Given the description of an element on the screen output the (x, y) to click on. 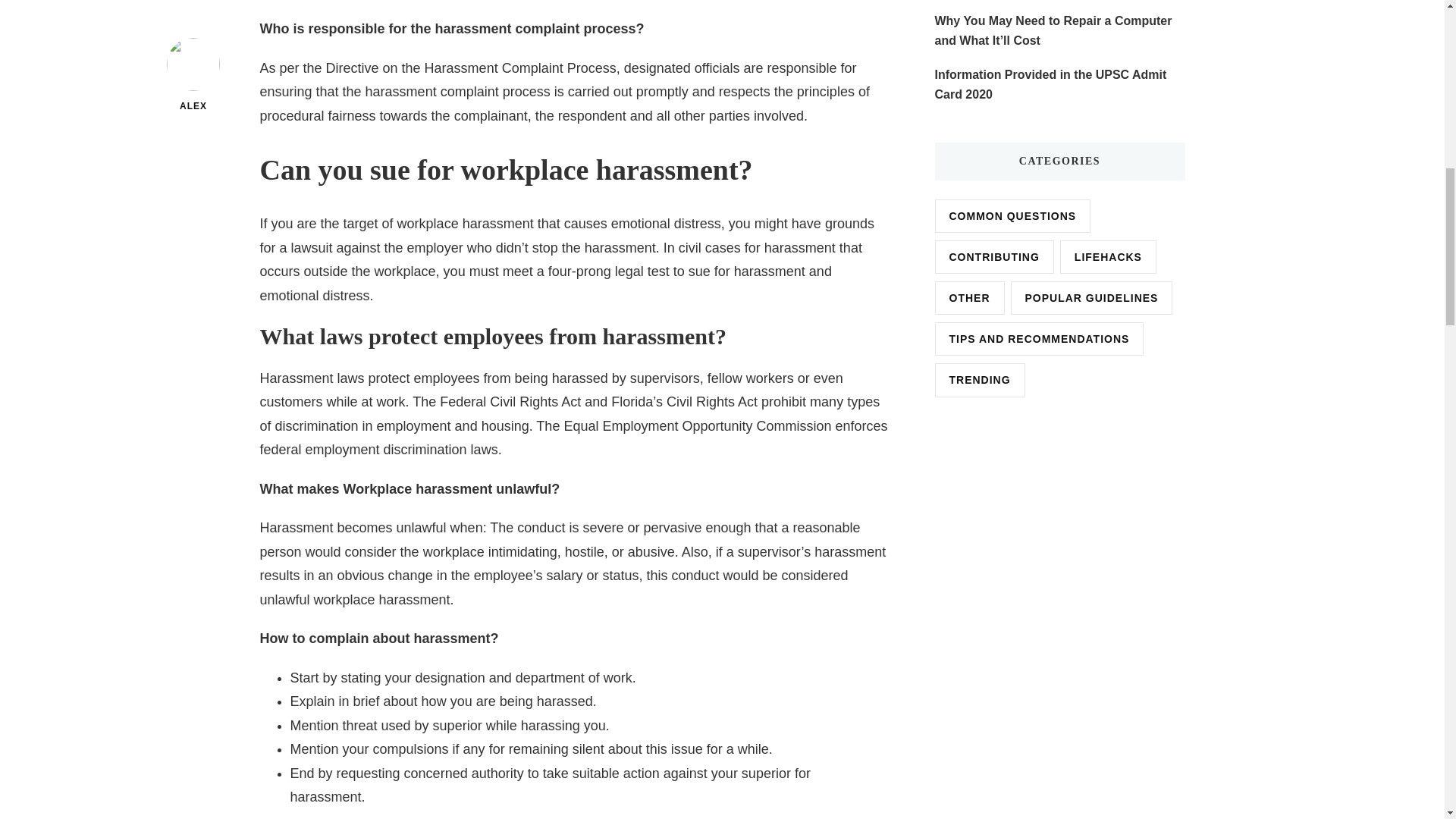
Information Provided in the UPSC Admit Card 2020 (1059, 84)
COMMON QUESTIONS (1012, 215)
OTHER (969, 297)
CONTRIBUTING (993, 256)
LIFEHACKS (1107, 256)
